Given the description of an element on the screen output the (x, y) to click on. 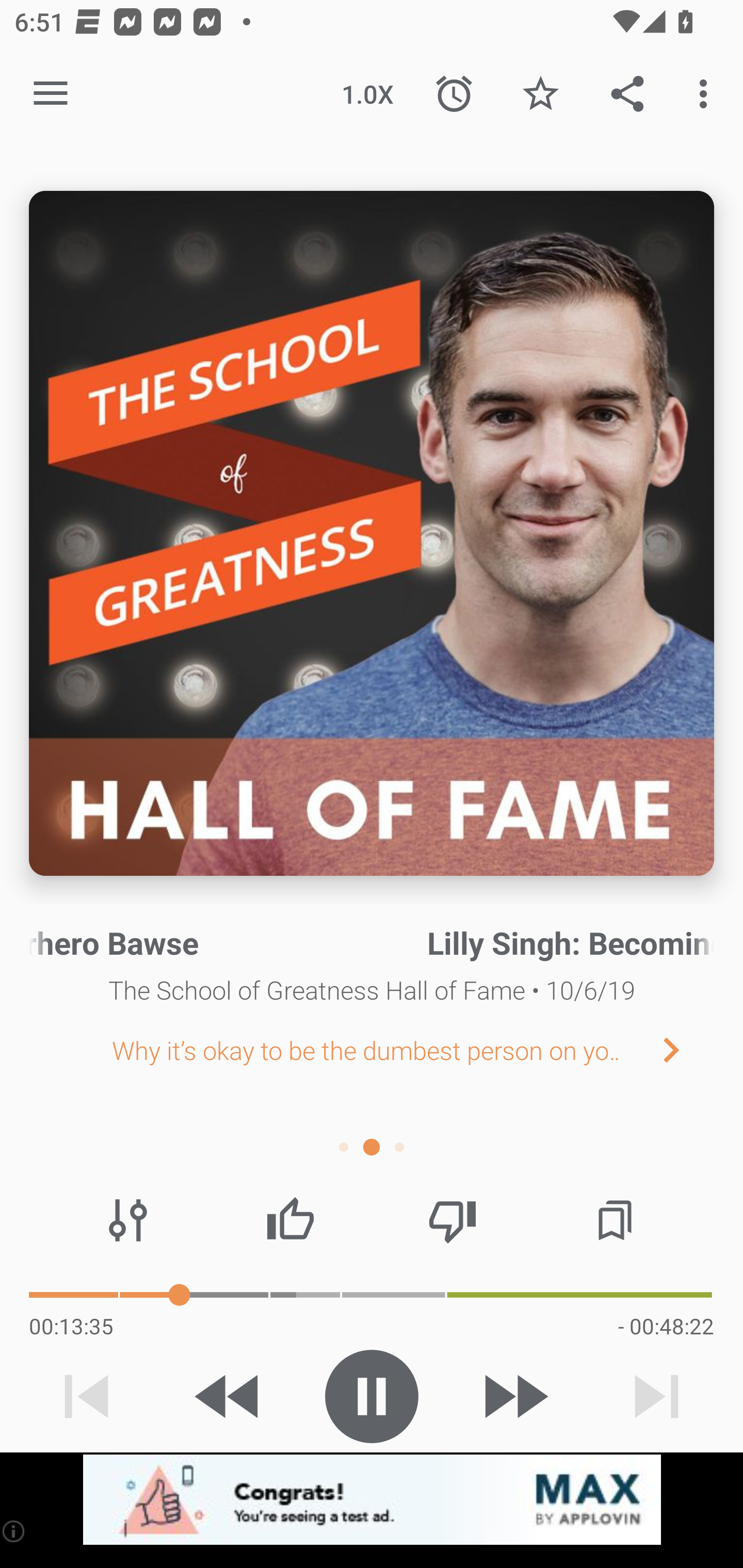
Open navigation sidebar (50, 93)
1.0X (366, 93)
Sleep Timer (453, 93)
Favorite (540, 93)
Share (626, 93)
More options (706, 93)
Episode description (371, 533)
Next Chapter (686, 1049)
Audio effects (127, 1220)
Thumbs up (290, 1220)
Thumbs down (452, 1220)
Chapters / Bookmarks (614, 1220)
- 00:48:23 (666, 1325)
Previous track (86, 1395)
Skip 15s backward (228, 1395)
Play / Pause (371, 1395)
Skip 30s forward (513, 1395)
Next track (656, 1395)
app-monetization (371, 1500)
(i) (14, 1531)
